Given the description of an element on the screen output the (x, y) to click on. 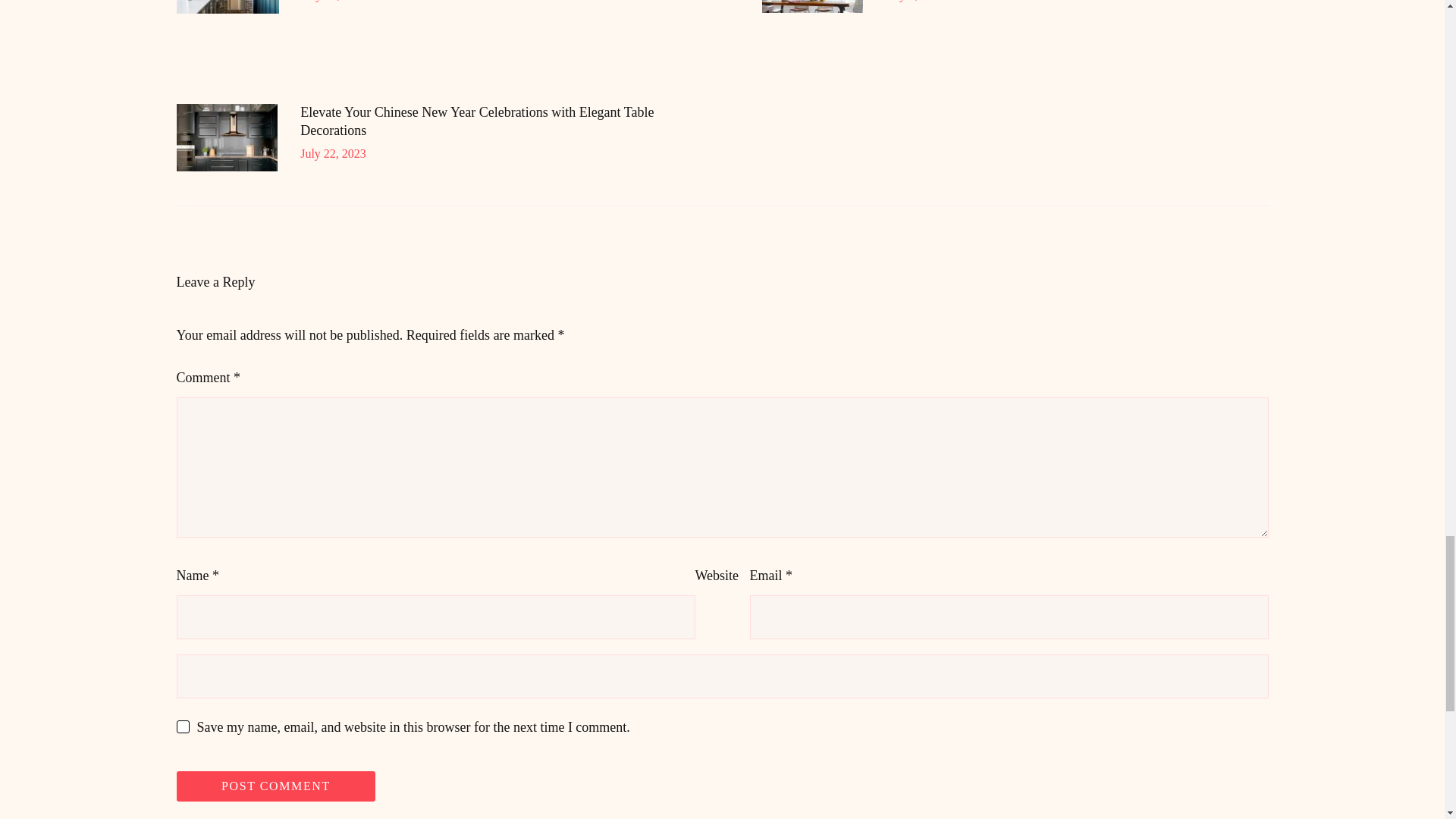
yes (182, 726)
Post Comment (275, 786)
